Given the description of an element on the screen output the (x, y) to click on. 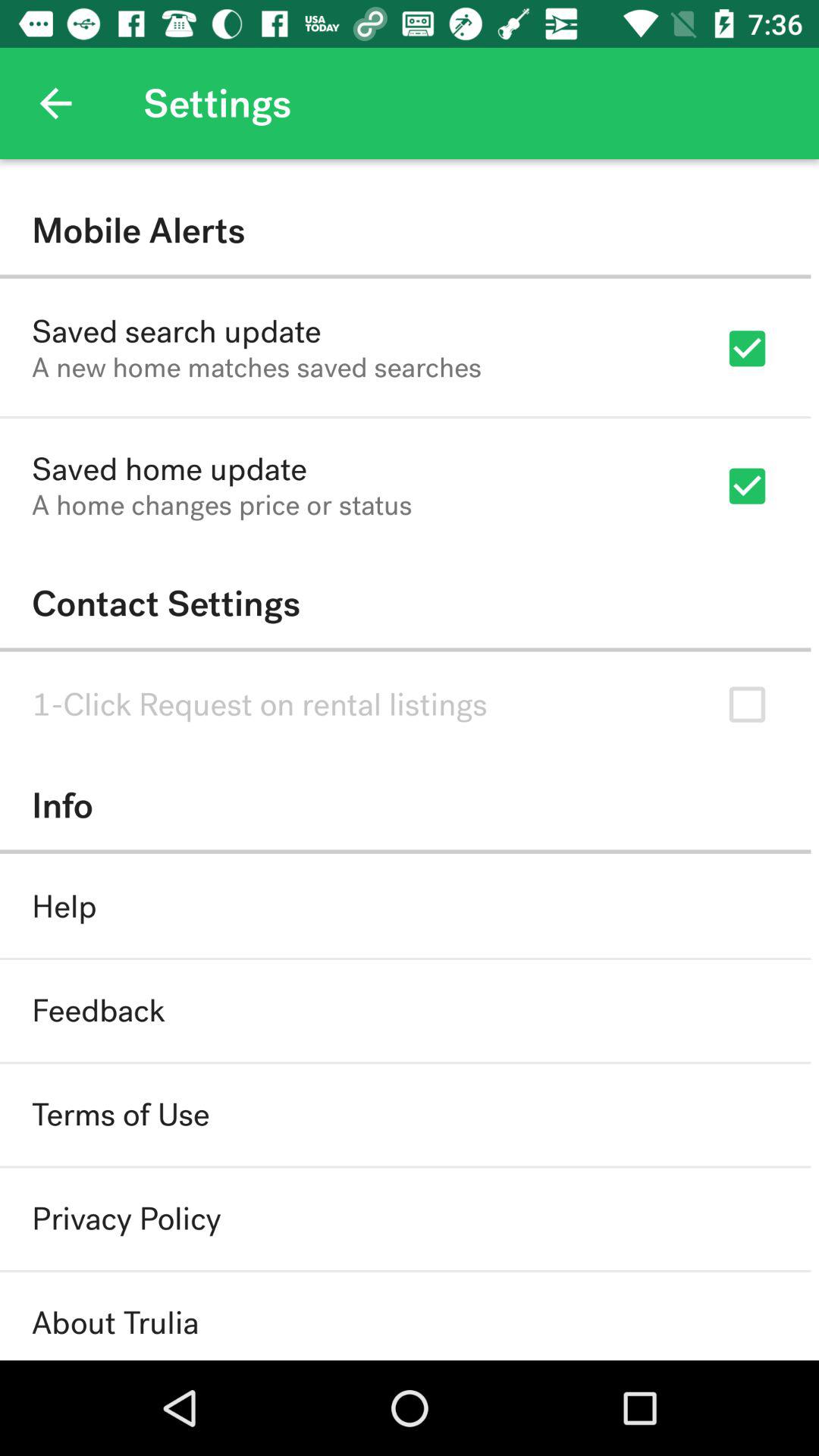
press privacy policy (126, 1219)
